Given the description of an element on the screen output the (x, y) to click on. 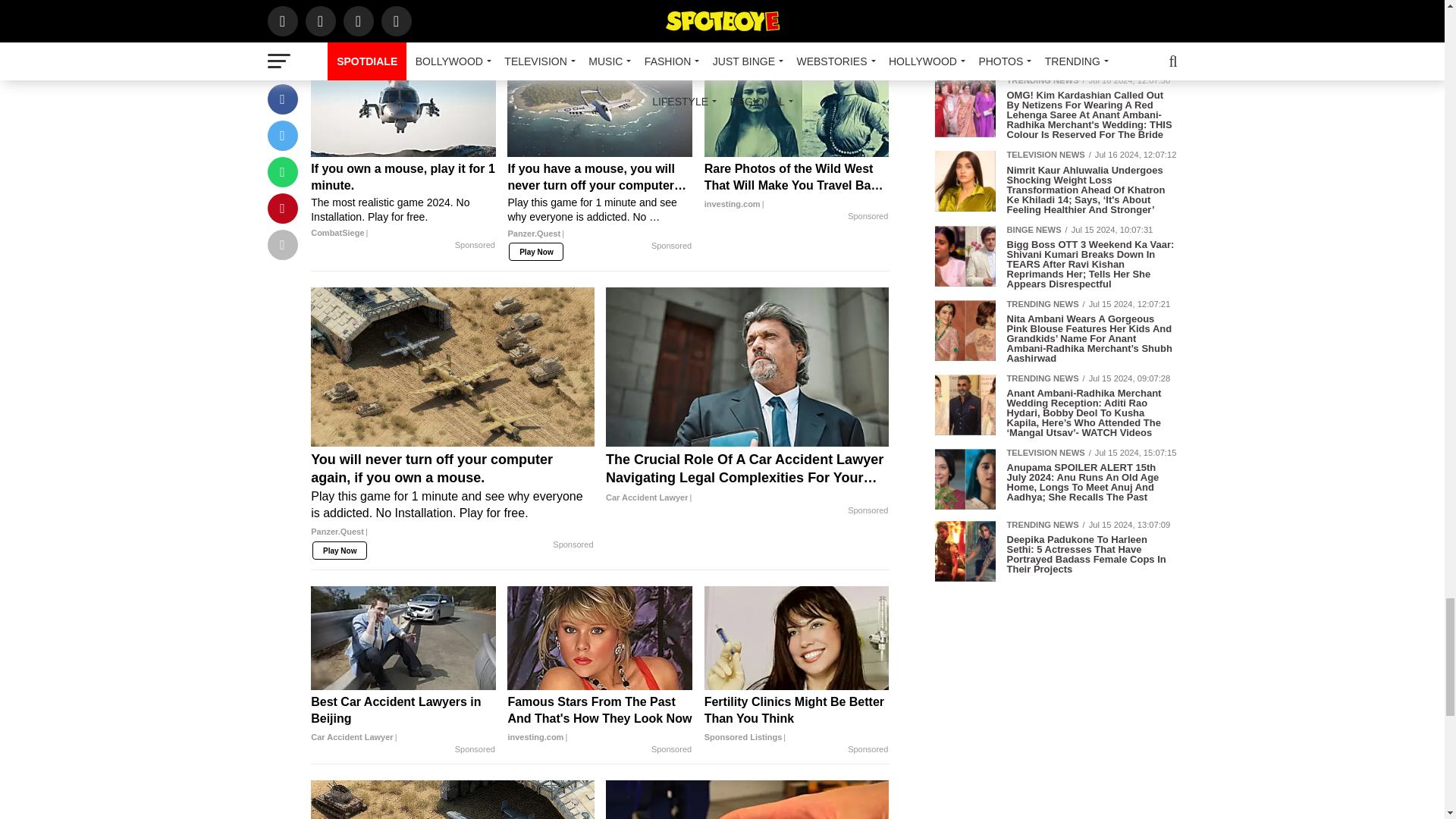
If you own a mouse, play it for 1 minute. (403, 200)
If you own a mouse, play it for 1 minute. (403, 105)
